Given the description of an element on the screen output the (x, y) to click on. 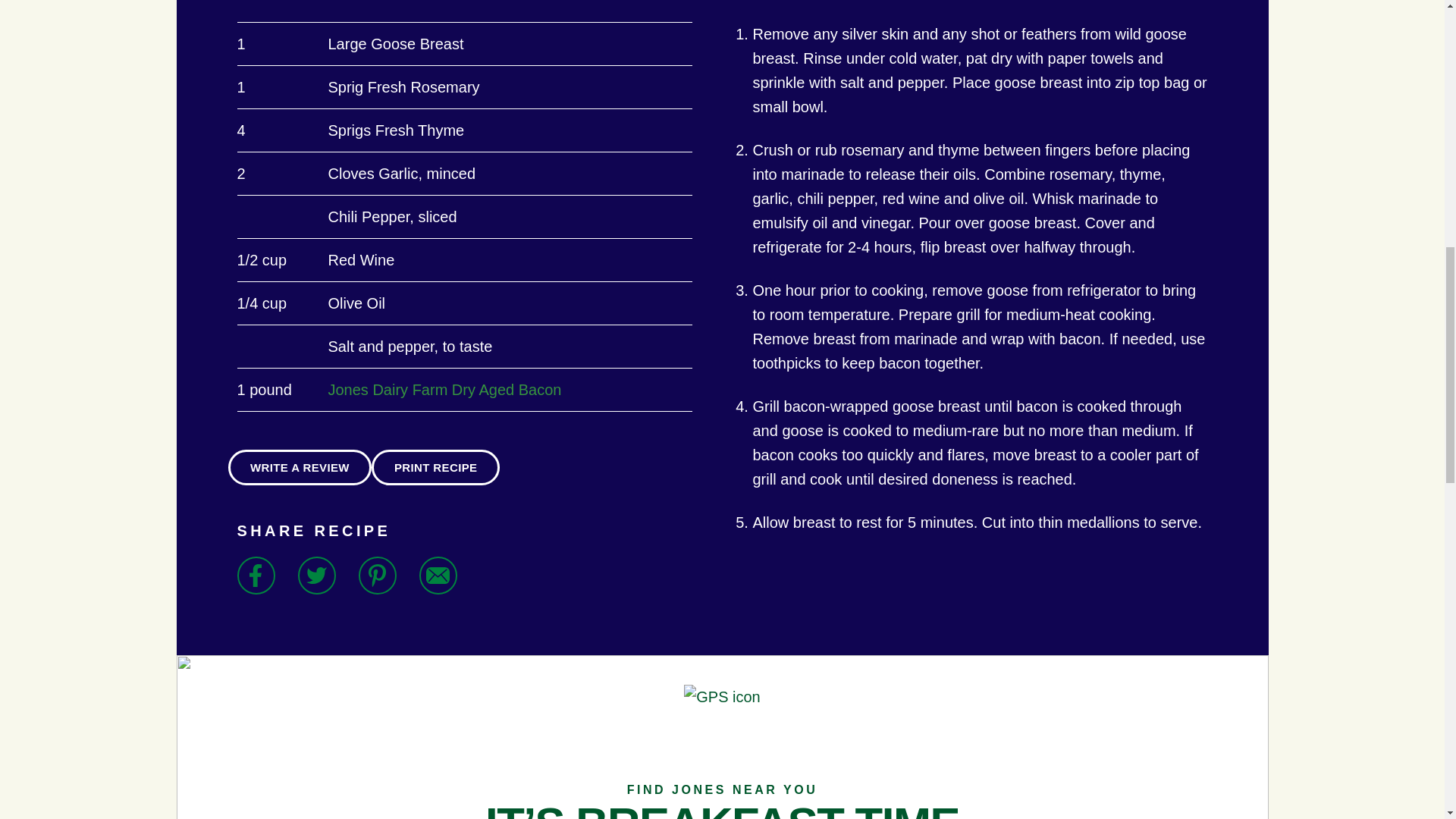
WRITE A REVIEW (299, 467)
Jones Dairy Farm Dry Aged Bacon (443, 389)
PRINT RECIPE (435, 467)
